Given the description of an element on the screen output the (x, y) to click on. 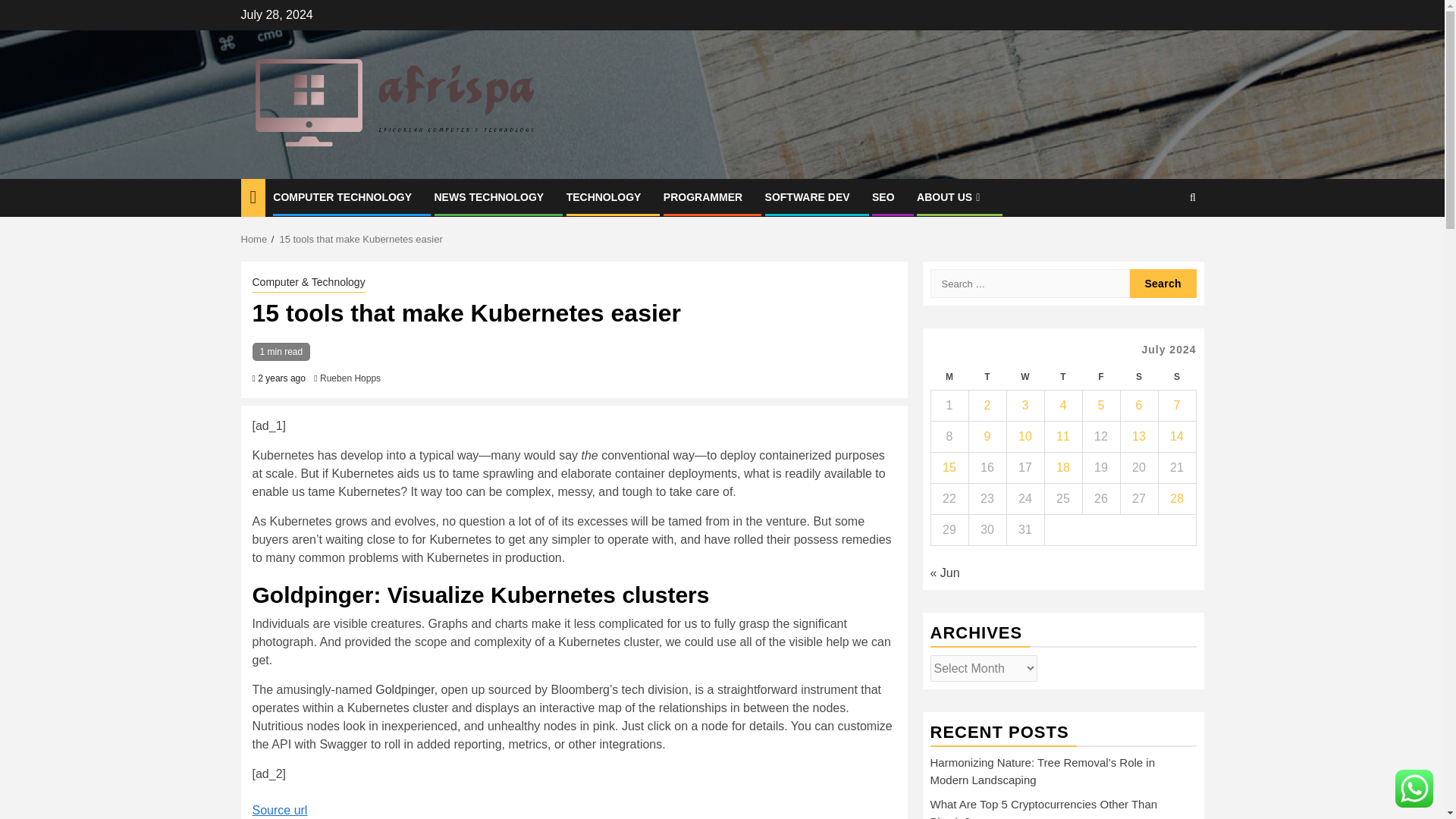
Wednesday (1024, 376)
NEWS TECHNOLOGY (488, 196)
Monday (949, 376)
ABOUT US (950, 196)
Thursday (1062, 376)
Tuesday (987, 376)
Friday (1100, 376)
Goldpinger (404, 689)
Saturday (1138, 376)
15 tools that make Kubernetes easier (360, 238)
Home (254, 238)
PROGRAMMER (702, 196)
Sunday (1176, 376)
Rueben Hopps (350, 378)
Source url (279, 809)
